Given the description of an element on the screen output the (x, y) to click on. 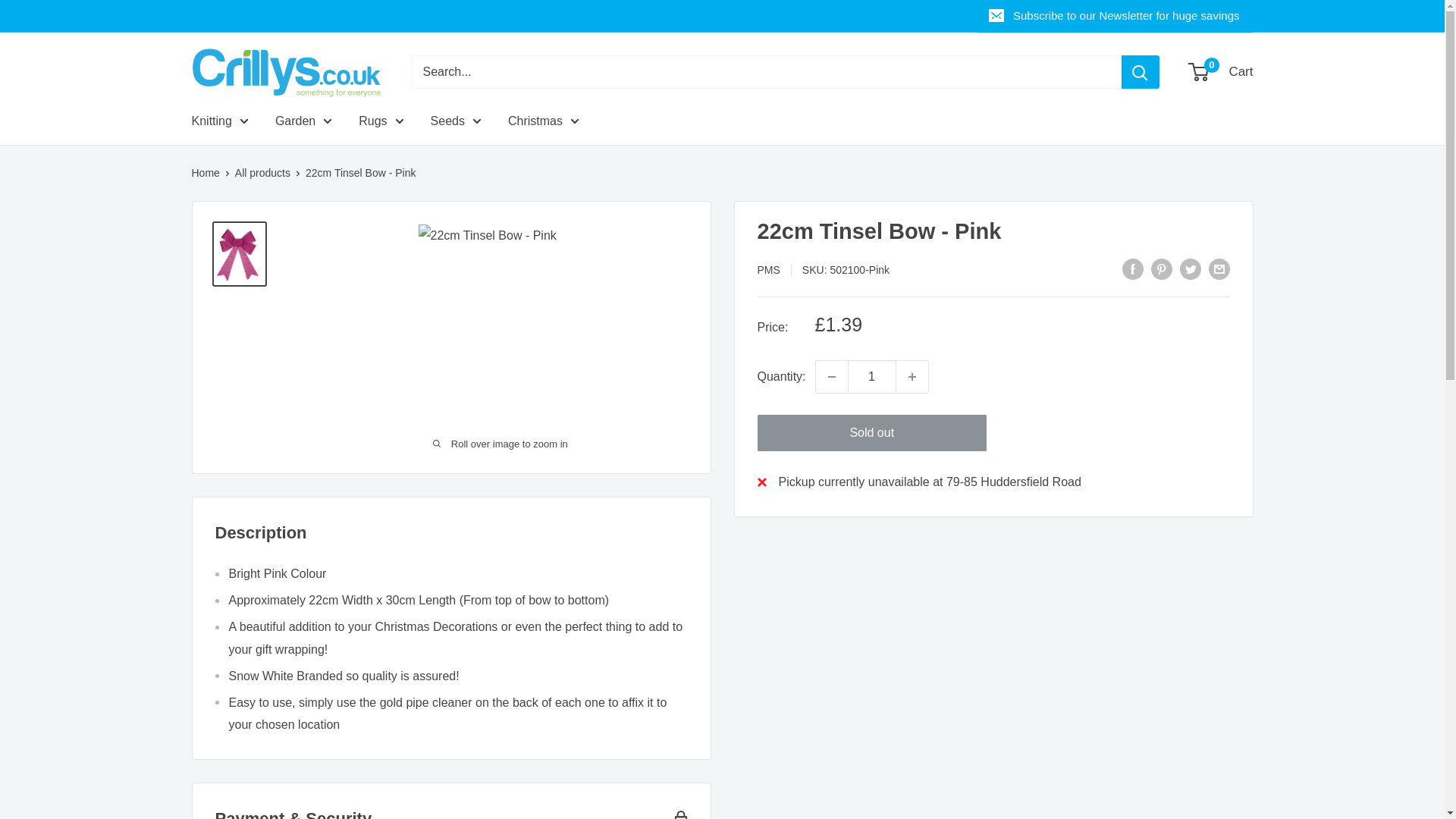
1 (871, 377)
Increase quantity by 1 (912, 377)
Decrease quantity by 1 (831, 377)
Subscribe to our Newsletter for huge savings (1114, 15)
